Given the description of an element on the screen output the (x, y) to click on. 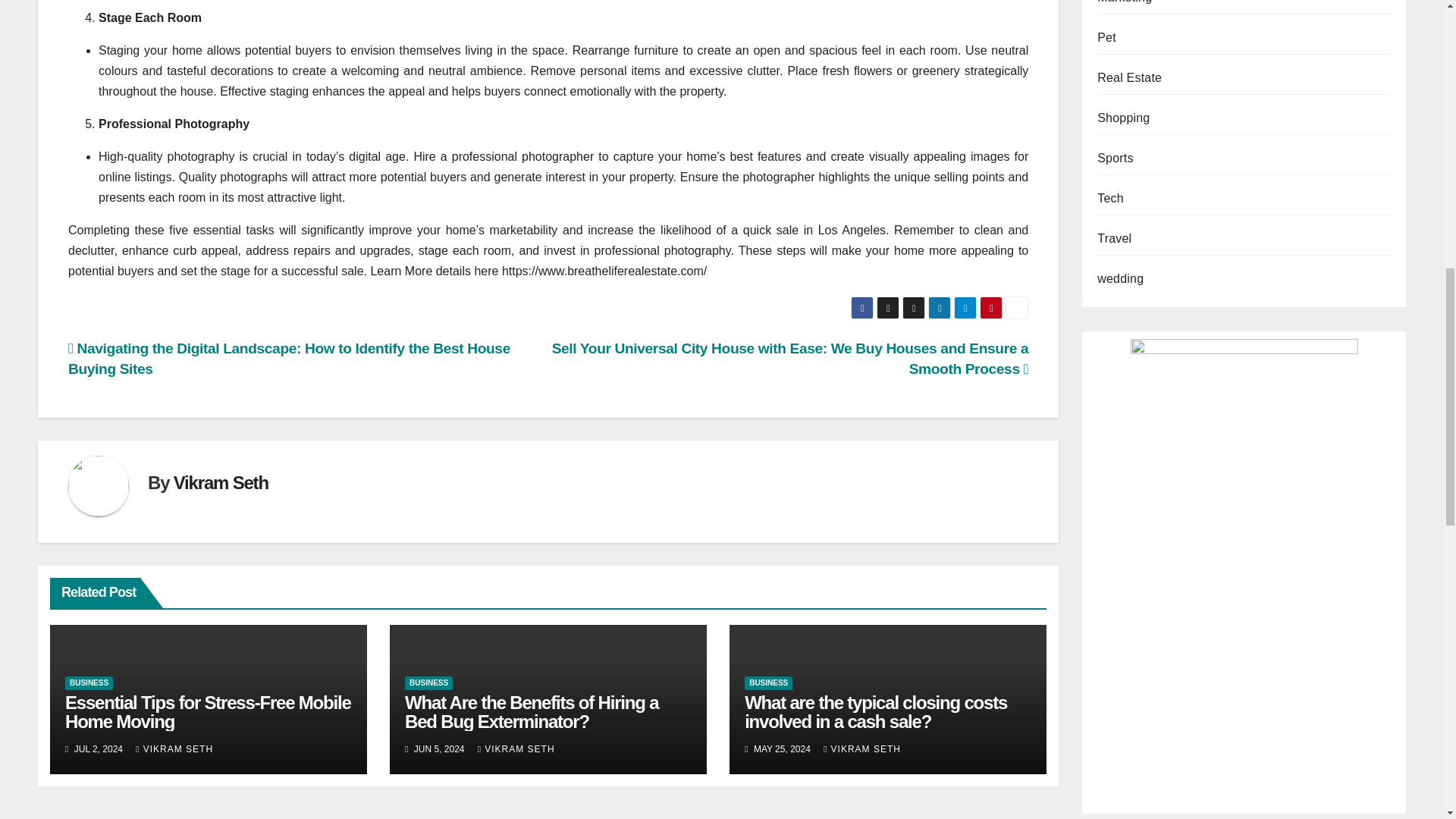
BUSINESS (428, 683)
What Are the Benefits of Hiring a Bed Bug Exterminator? (531, 712)
Essential Tips for Stress-Free Mobile Home Moving (207, 712)
Vikram Seth (220, 482)
BUSINESS (89, 683)
